Given the description of an element on the screen output the (x, y) to click on. 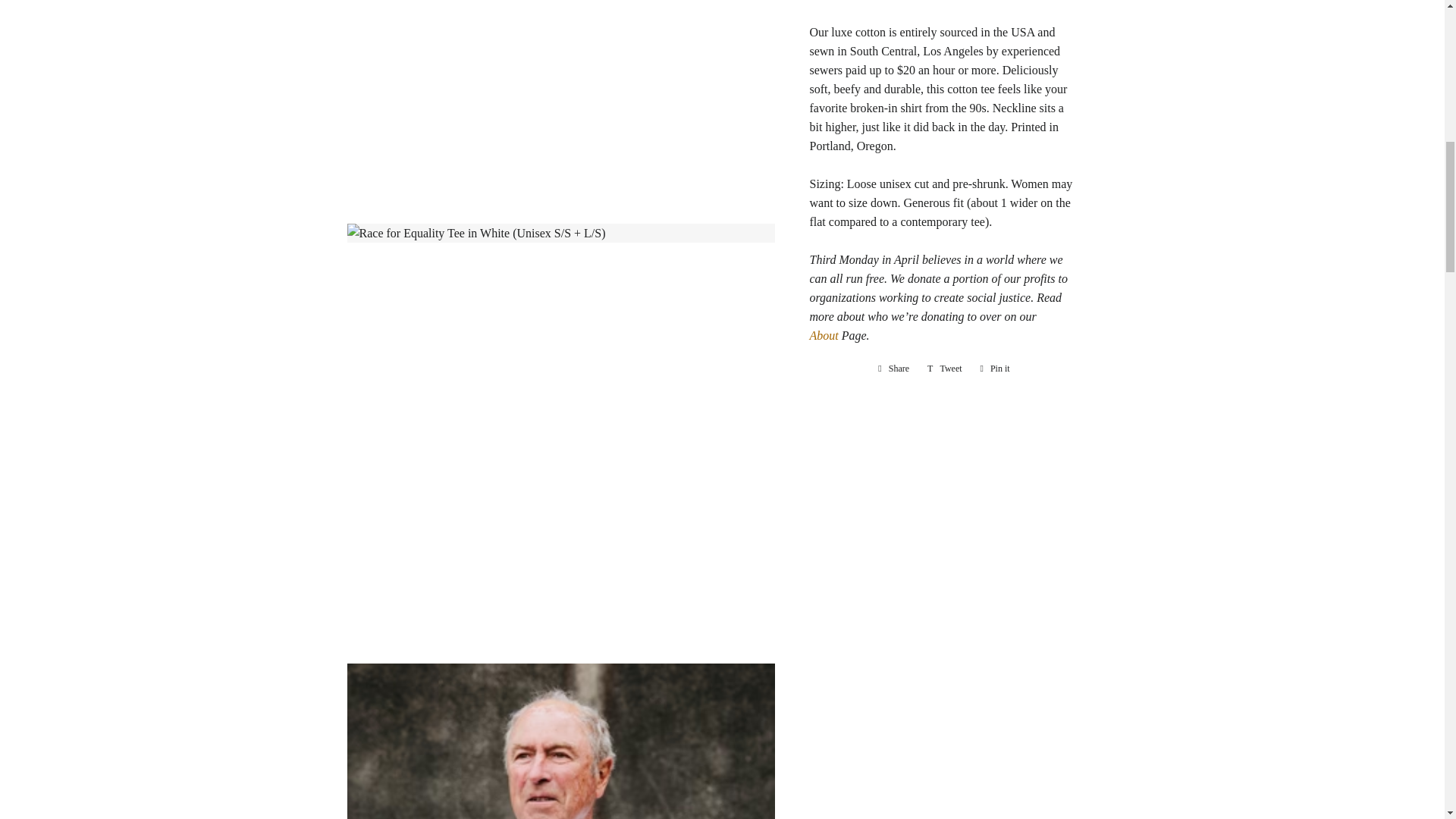
Tweet on Twitter (944, 367)
About (823, 335)
Share on Facebook (893, 367)
Pin on Pinterest (944, 367)
Third Monday in April About (893, 367)
